Given the description of an element on the screen output the (x, y) to click on. 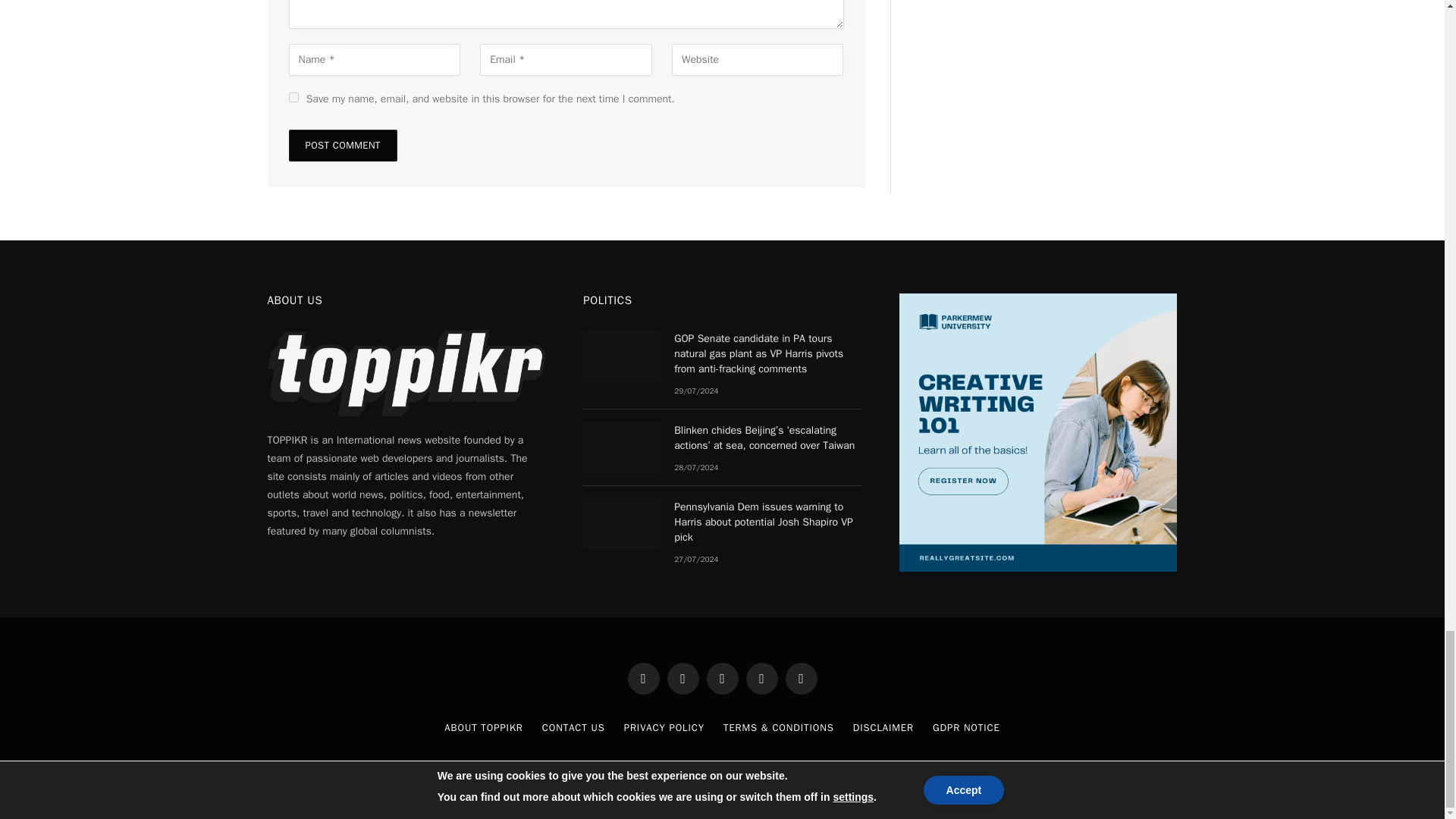
yes (293, 97)
Post Comment (342, 145)
